Given the description of an element on the screen output the (x, y) to click on. 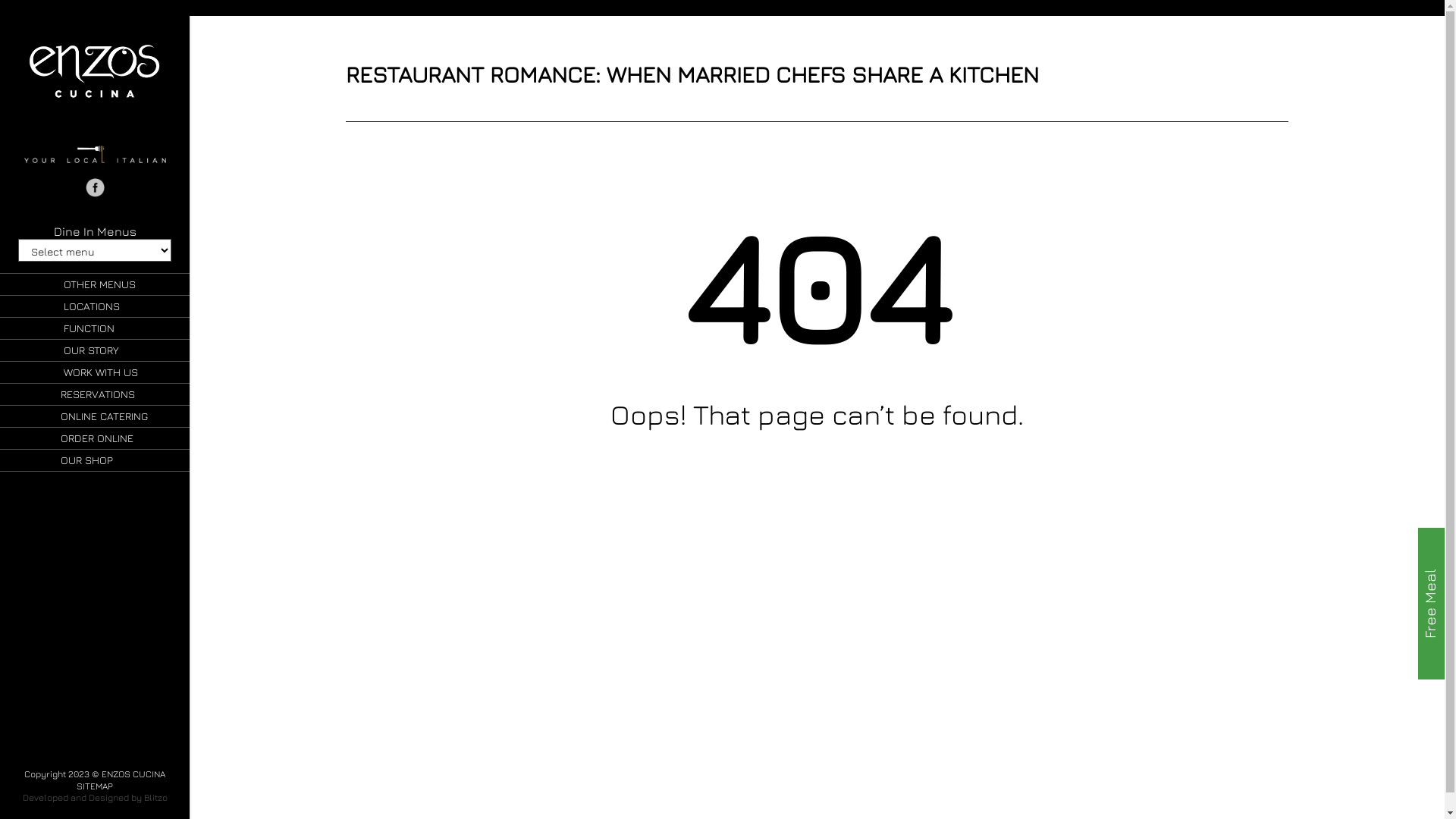
 OUR STORY Element type: text (94, 349)
 LOCATIONS Element type: text (94, 305)
ONLINE CATERING Element type: text (94, 415)
OUR SHOP Element type: text (94, 459)
SIGN UP Element type: text (541, 692)
Developed and Designed by Blitzo Element type: text (94, 797)
 WORK WITH US Element type: text (94, 371)
SITEMAP Element type: text (94, 785)
 OTHER MENUS Element type: text (94, 283)
RESERVATIONS Element type: text (94, 393)
 FUNCTION Element type: text (94, 327)
ORDER ONLINE Element type: text (94, 437)
